Given the description of an element on the screen output the (x, y) to click on. 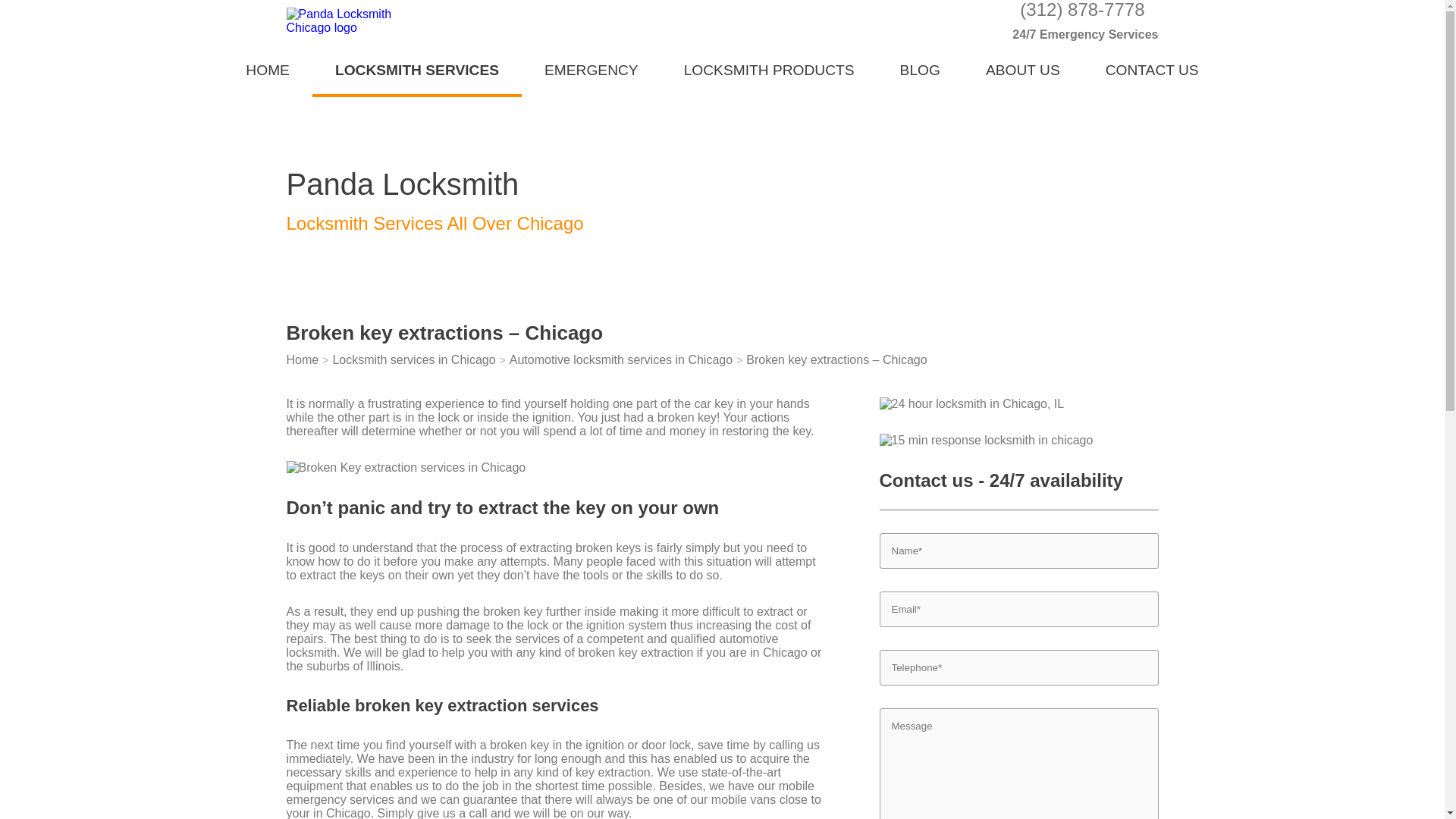
EMERGENCY (591, 68)
Home (302, 359)
BLOG (919, 68)
Locksmith services in Chicago (413, 359)
Locksmith Chicago (267, 68)
HOME (267, 68)
LOCKSMITH PRODUCTS (769, 68)
Emergency Locksmith Chicago (591, 68)
Automotive locksmith services in Chicago (620, 359)
ABOUT US (1022, 68)
